Given the description of an element on the screen output the (x, y) to click on. 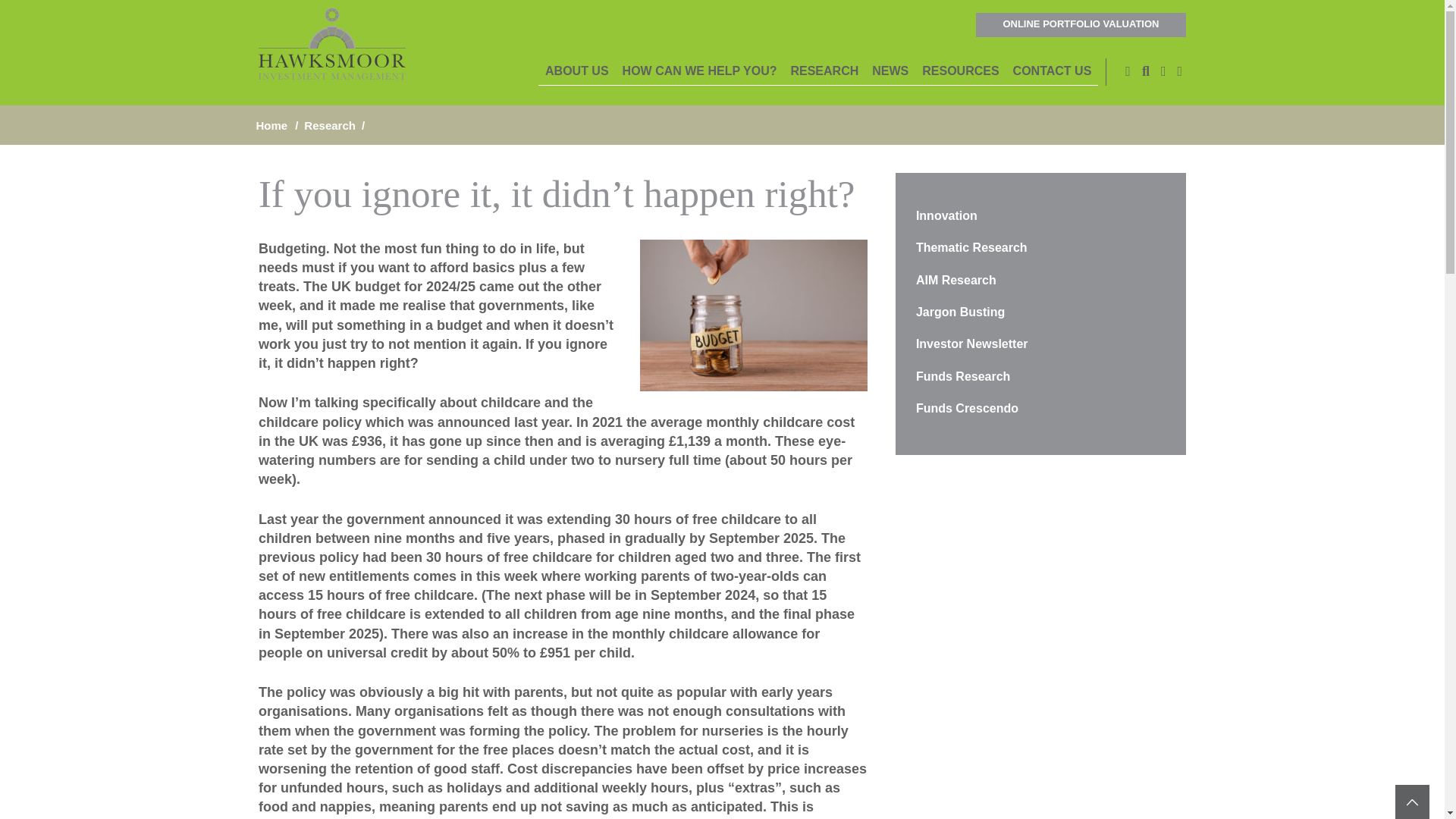
How can we help you? (699, 71)
HOW CAN WE HELP YOU? (699, 71)
About Us (576, 71)
RESEARCH (823, 71)
RESOURCES (960, 71)
NEWS (889, 71)
CONTACT US (1052, 71)
ABOUT US (576, 71)
Research (823, 71)
